Given the description of an element on the screen output the (x, y) to click on. 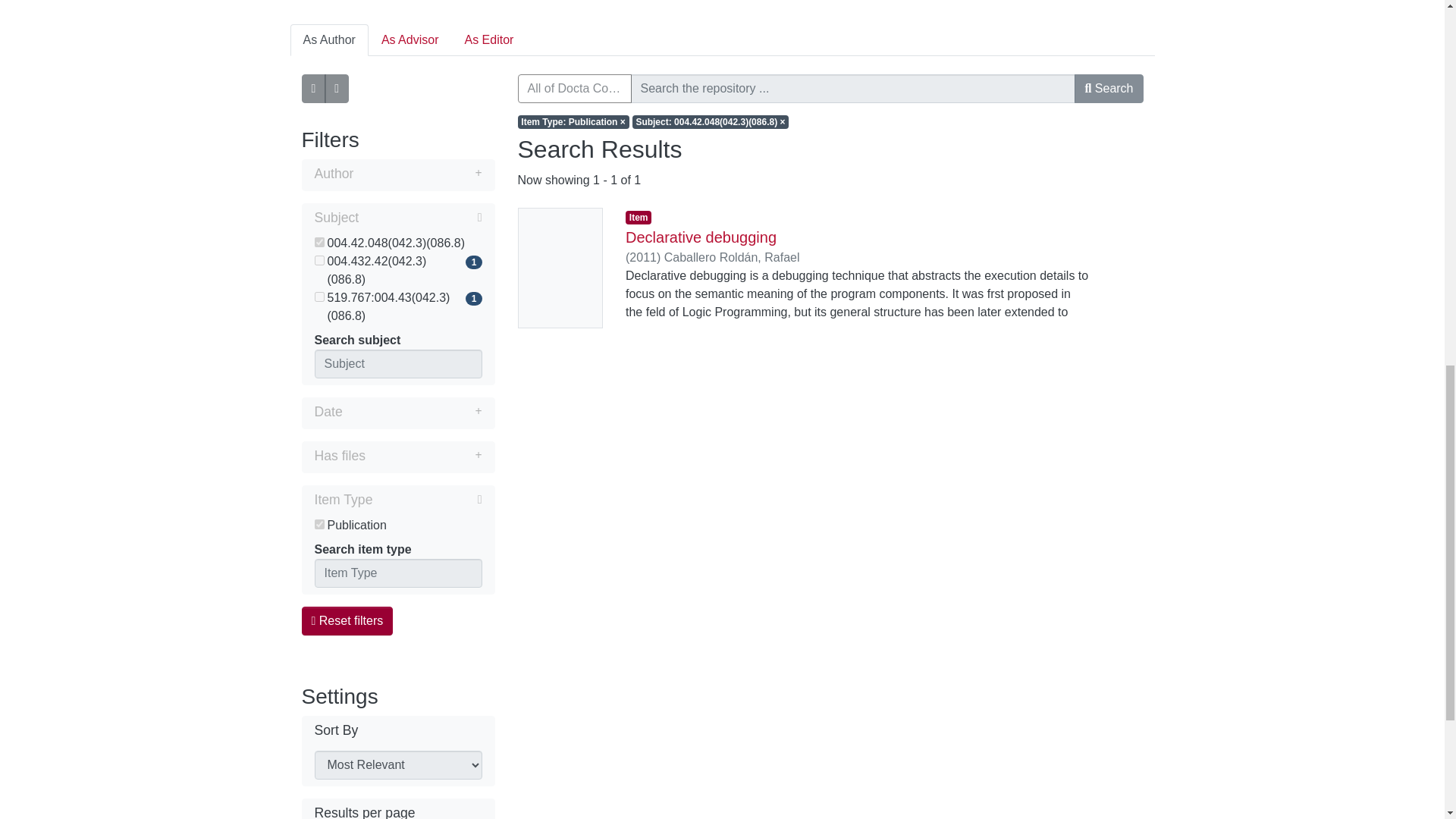
Expand filter (417, 173)
on (318, 242)
Expand filter (411, 411)
Show as grid (336, 88)
Show as list (313, 88)
As Author (328, 40)
As Advisor (409, 40)
Collapse filter (419, 217)
on (318, 524)
on (318, 260)
Author (397, 175)
As Editor (488, 40)
on (318, 296)
